Given the description of an element on the screen output the (x, y) to click on. 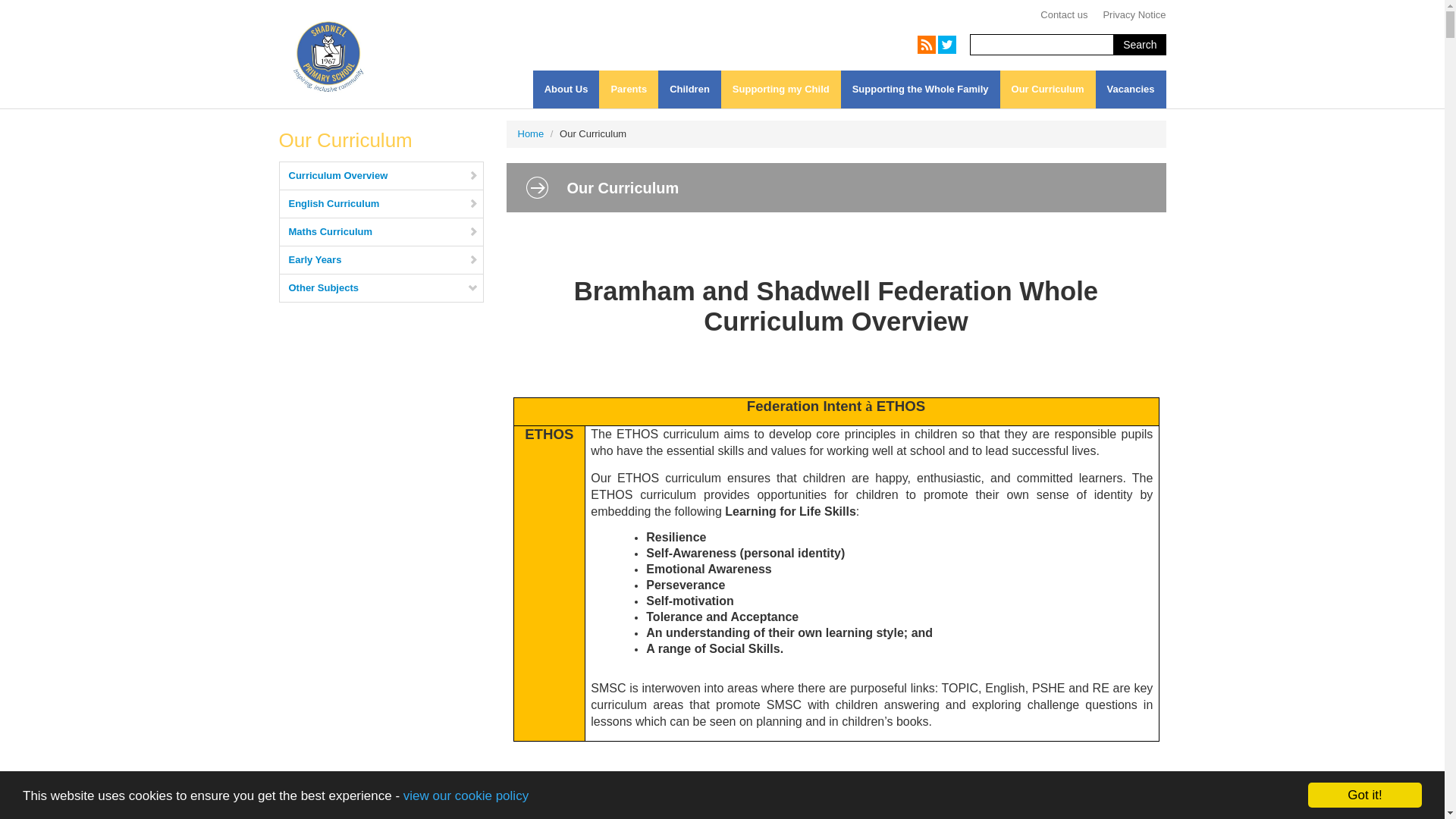
Curriculum Overview (381, 175)
Search (1139, 44)
Supporting my Child (780, 89)
Follow us on Twitter (946, 45)
Early Years (381, 259)
Home (529, 133)
Vacancies (1131, 89)
About Us (565, 89)
Parents (628, 89)
Subscribe for our feed (926, 45)
